Given the description of an element on the screen output the (x, y) to click on. 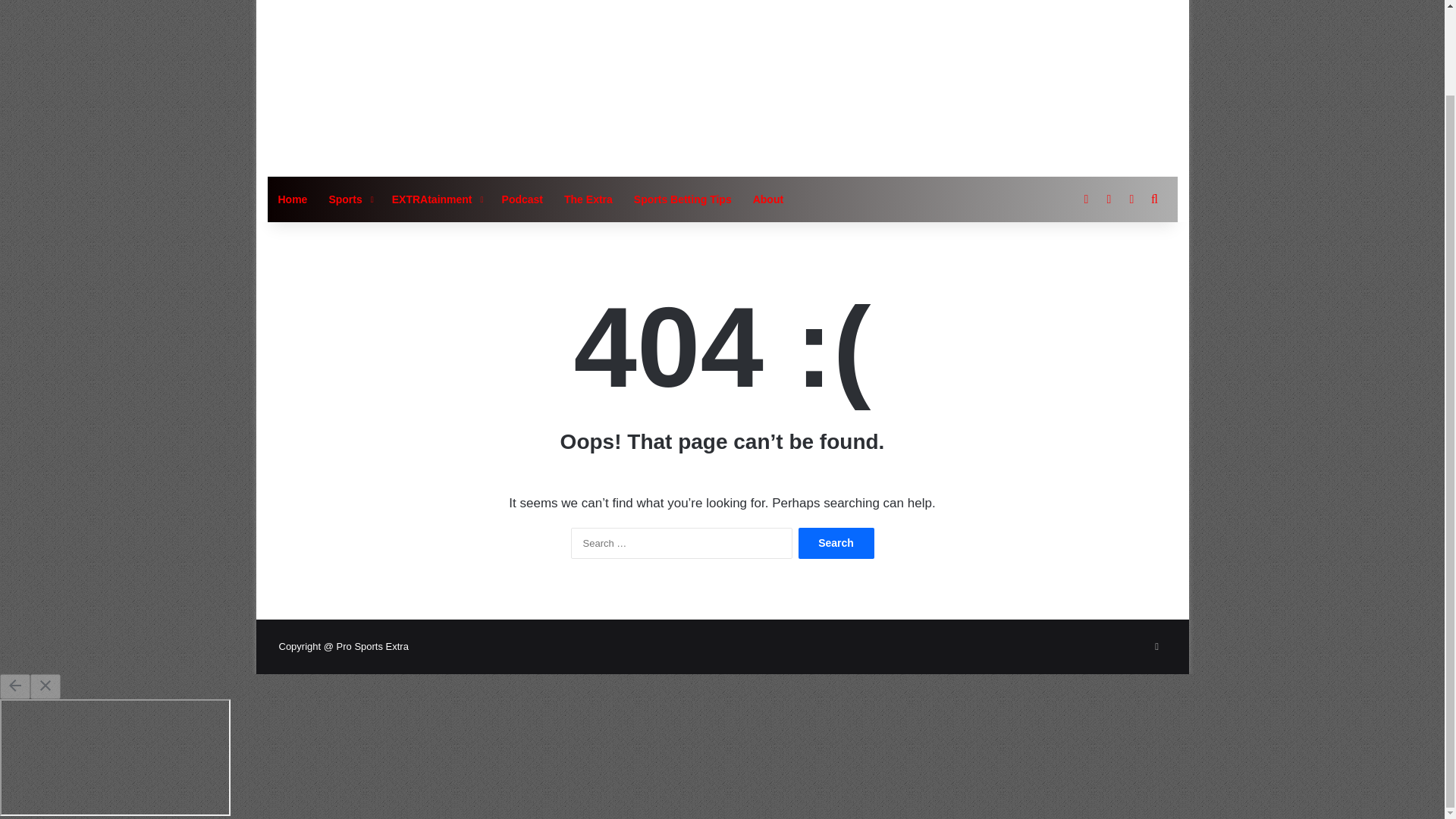
Search (835, 542)
Podcast (522, 198)
Sports Betting Tips (682, 198)
Facebook (1157, 647)
EXTRAtainment (436, 198)
The Extra (588, 198)
Search (835, 542)
About (767, 198)
Home (291, 198)
Sports (348, 198)
Advertisement (877, 80)
Search (835, 542)
